Given the description of an element on the screen output the (x, y) to click on. 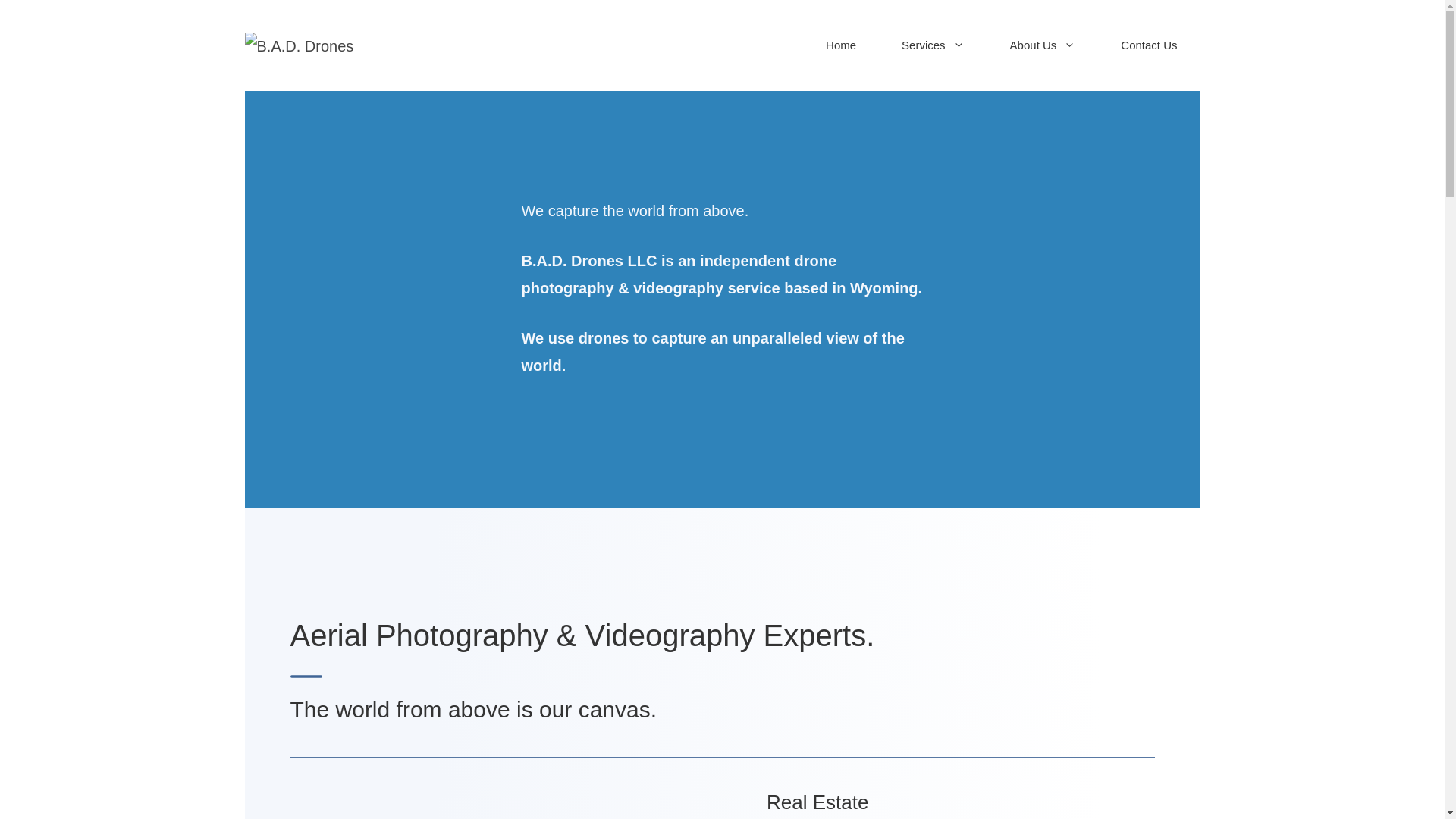
Home (841, 45)
Contact Us (1148, 45)
Services (933, 45)
About Us (1043, 45)
